Given the description of an element on the screen output the (x, y) to click on. 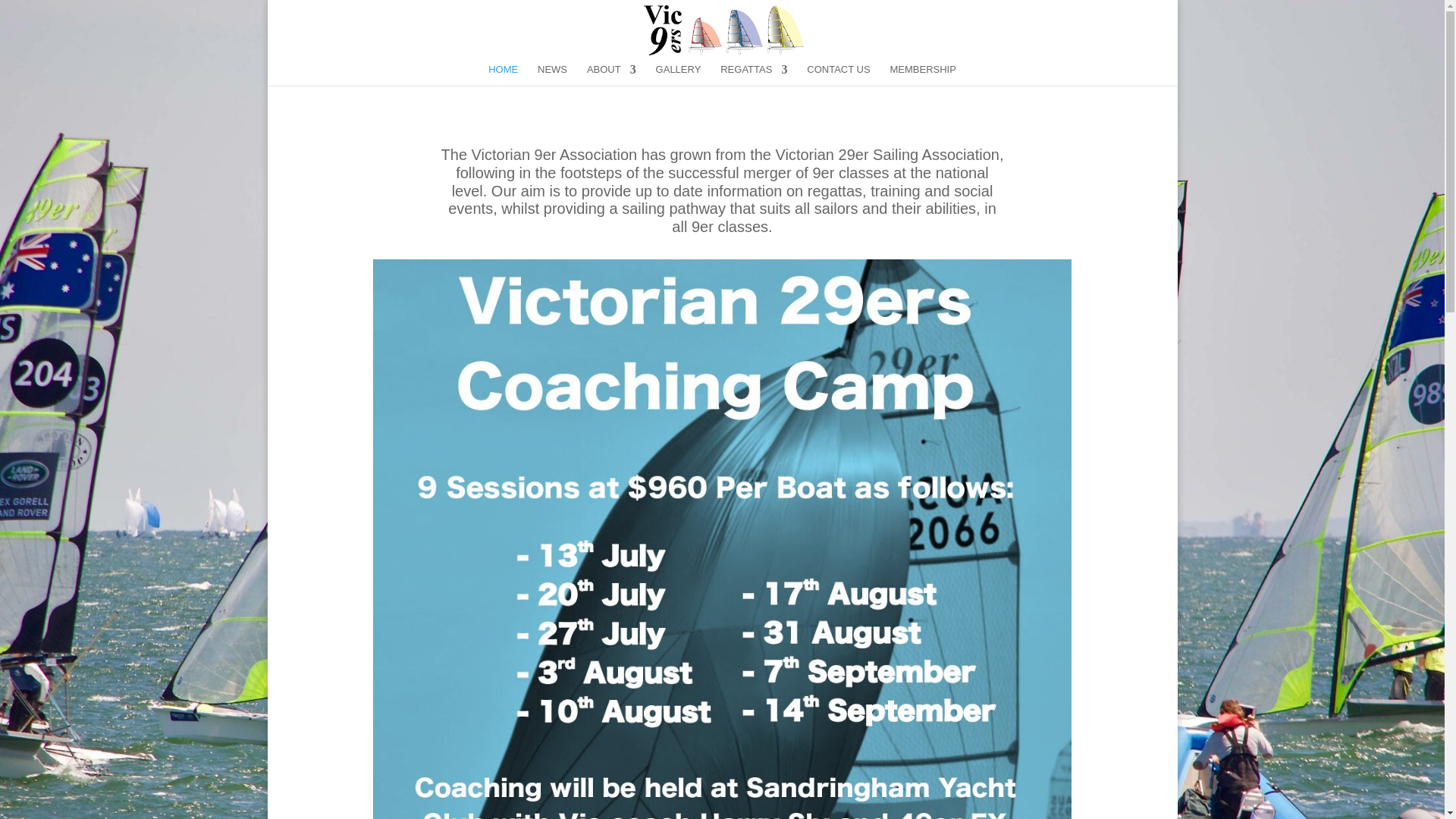
HOME (502, 74)
GALLERY (678, 74)
NEWS (552, 74)
REGATTAS (753, 74)
MEMBERSHIP (922, 74)
CONTACT US (837, 74)
ABOUT (611, 74)
